Given the description of an element on the screen output the (x, y) to click on. 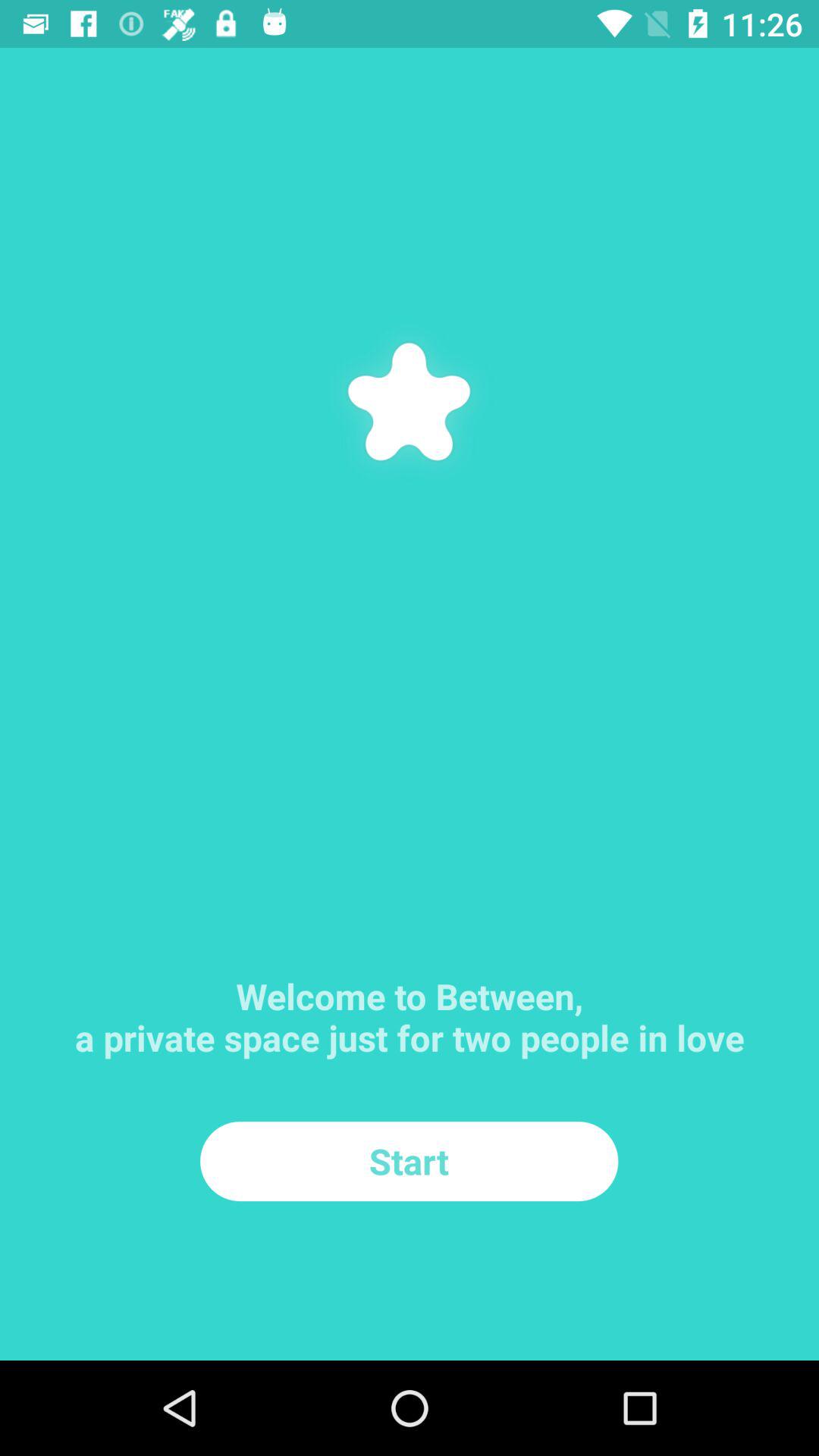
select the text below stars symbol (409, 988)
